Given the description of an element on the screen output the (x, y) to click on. 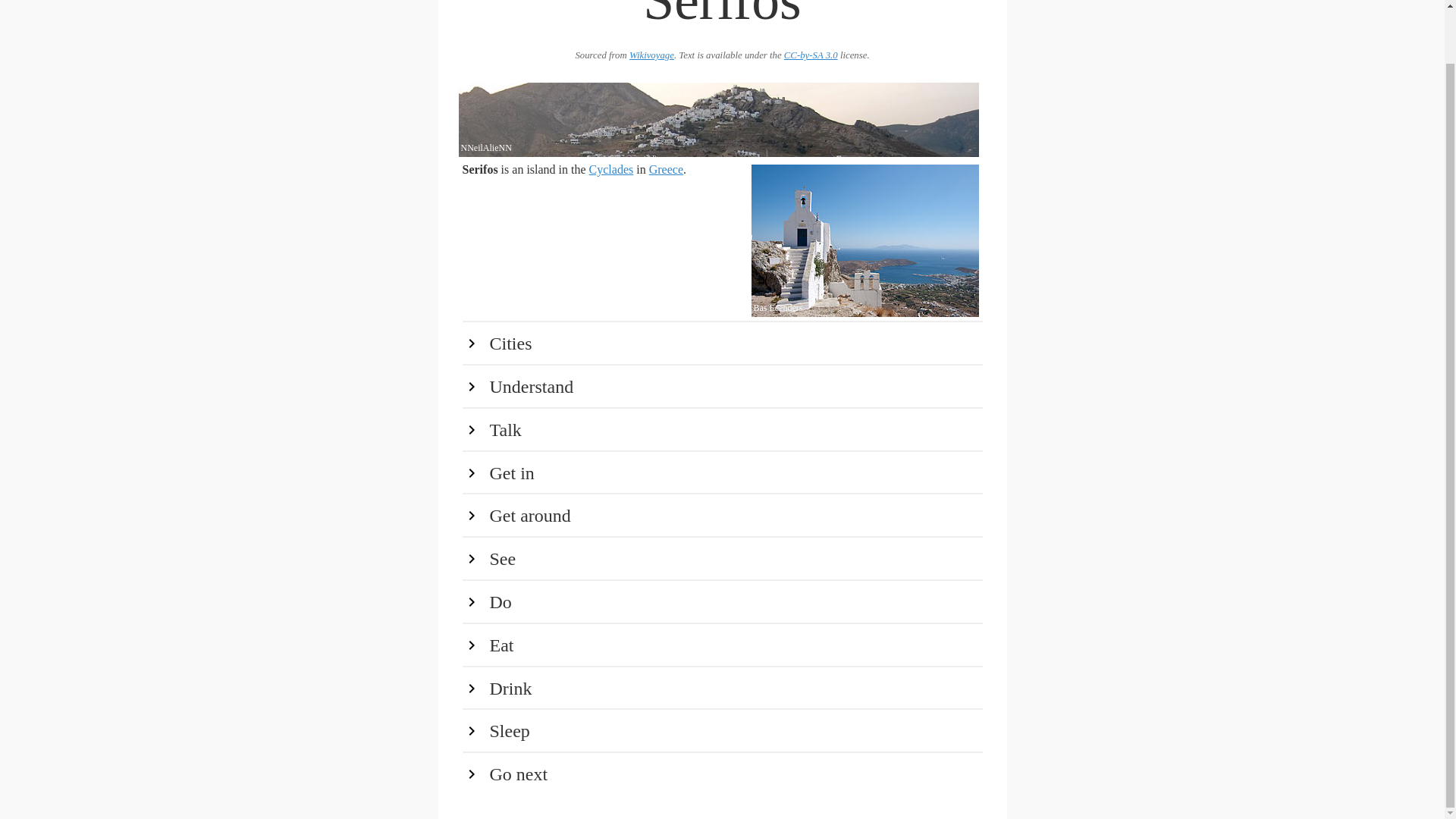
Cyclades (611, 169)
Greece (665, 169)
CC-by-SA 3.0 (811, 54)
Wikivoyage (651, 54)
